Given the description of an element on the screen output the (x, y) to click on. 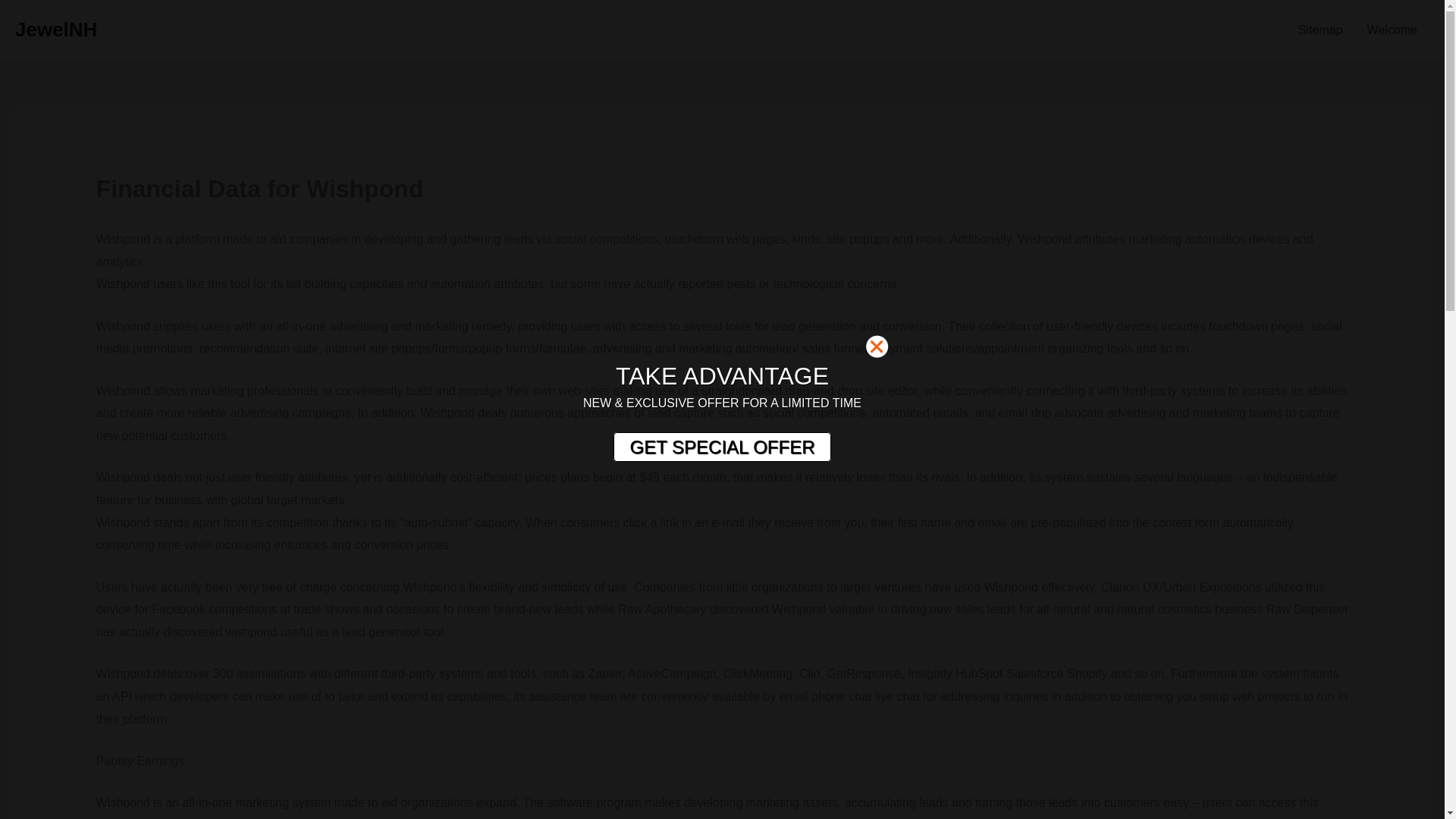
JewelNH (55, 29)
GET SPECIAL OFFER (720, 446)
Sitemap (1320, 30)
Welcome (1392, 30)
